Given the description of an element on the screen output the (x, y) to click on. 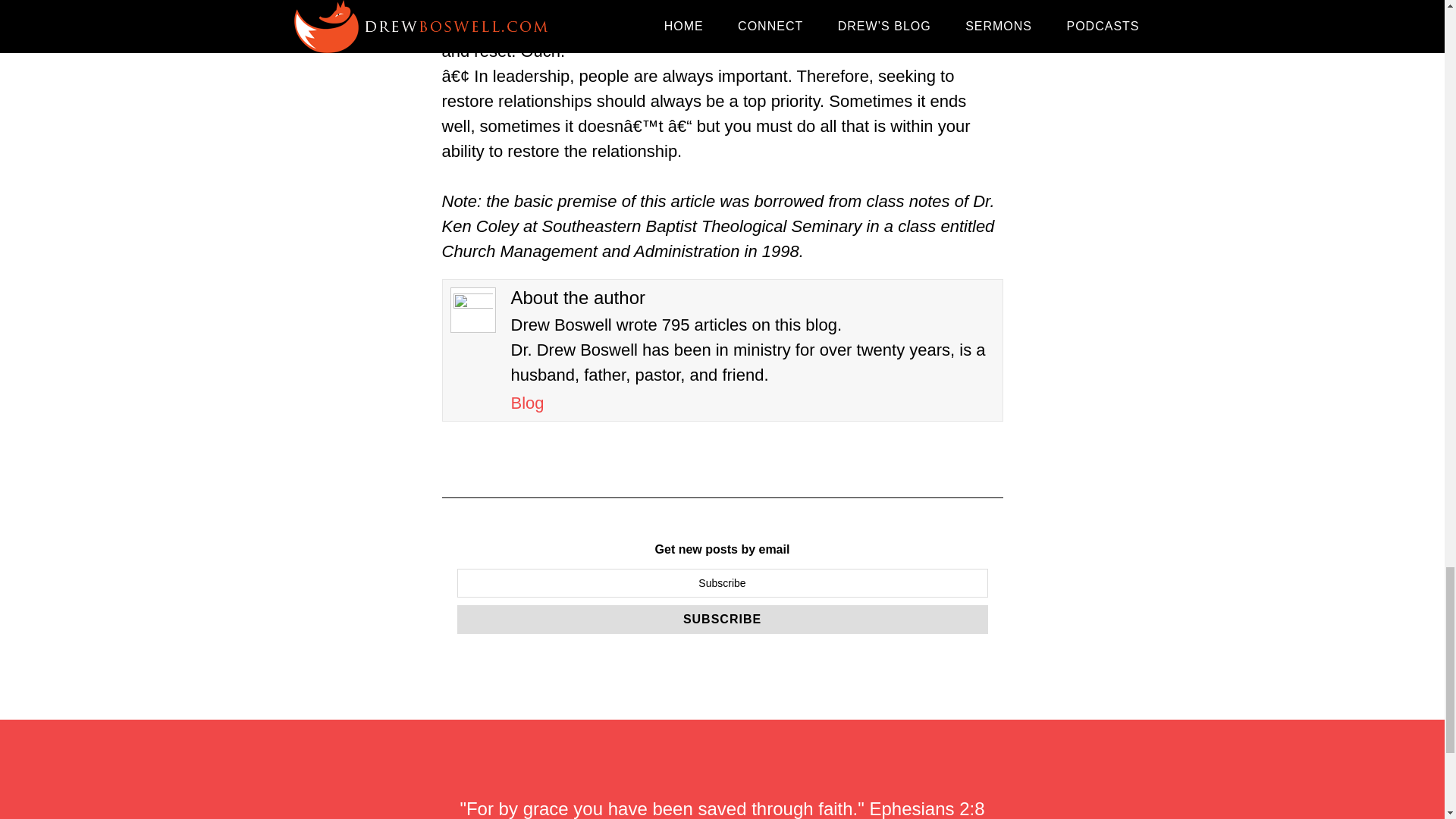
Blog (527, 402)
Subscribe (722, 619)
Subscribe (722, 619)
